Given the description of an element on the screen output the (x, y) to click on. 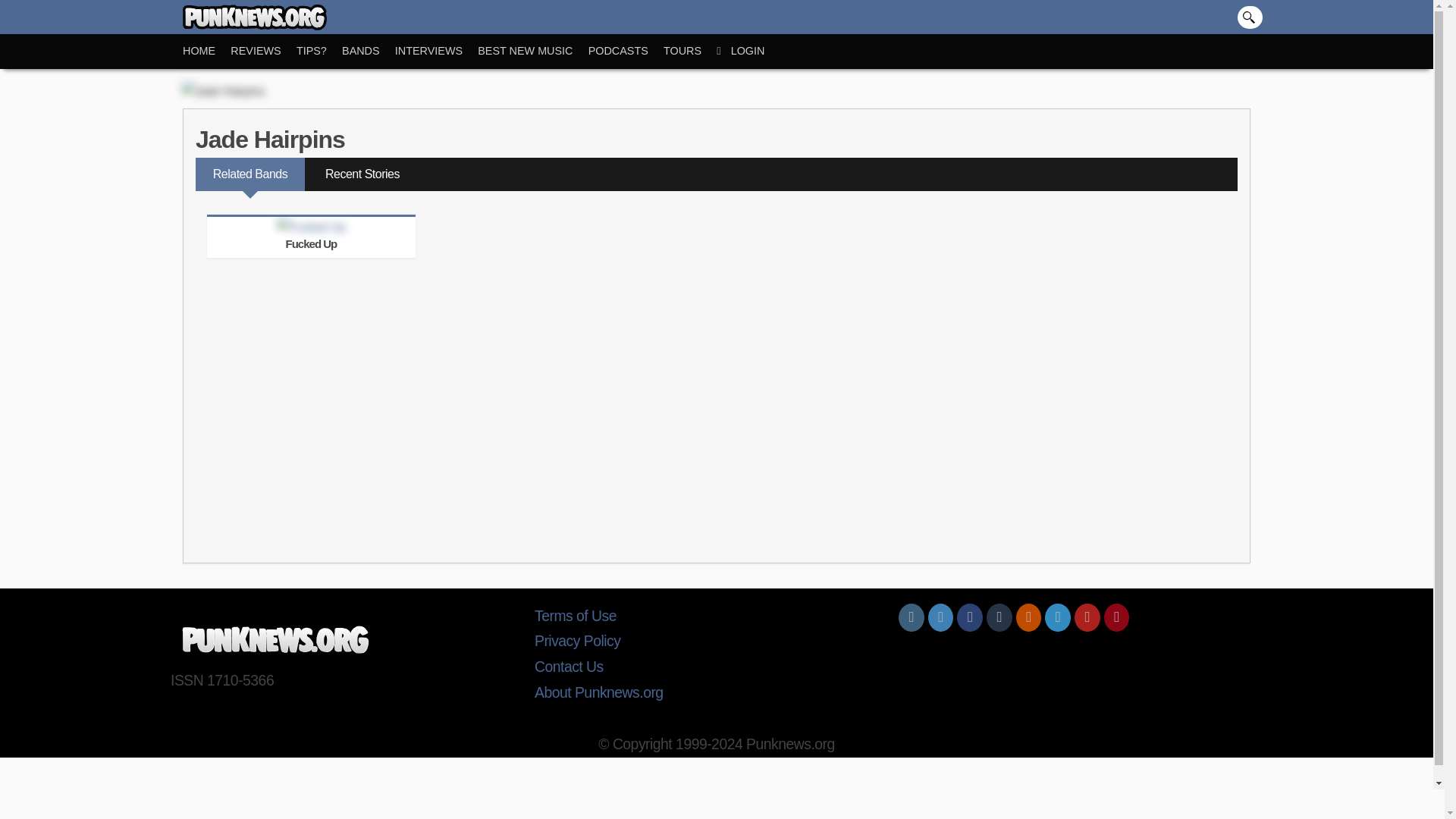
BANDS (368, 50)
Check out some new music reviews (263, 50)
Podcasts (625, 50)
HOME (206, 50)
Jade Hairpins (270, 139)
Punknews.org main RSS feed (1029, 616)
Submit a story or tip (319, 50)
Tours (689, 50)
Punknews.org on Facebook (969, 616)
About Punknews.org (716, 692)
Best New Music (532, 50)
Return to Home Page (206, 50)
Punknews.org on YouTube (1087, 616)
PODCASTS (625, 50)
Related Bands (249, 174)
